Given the description of an element on the screen output the (x, y) to click on. 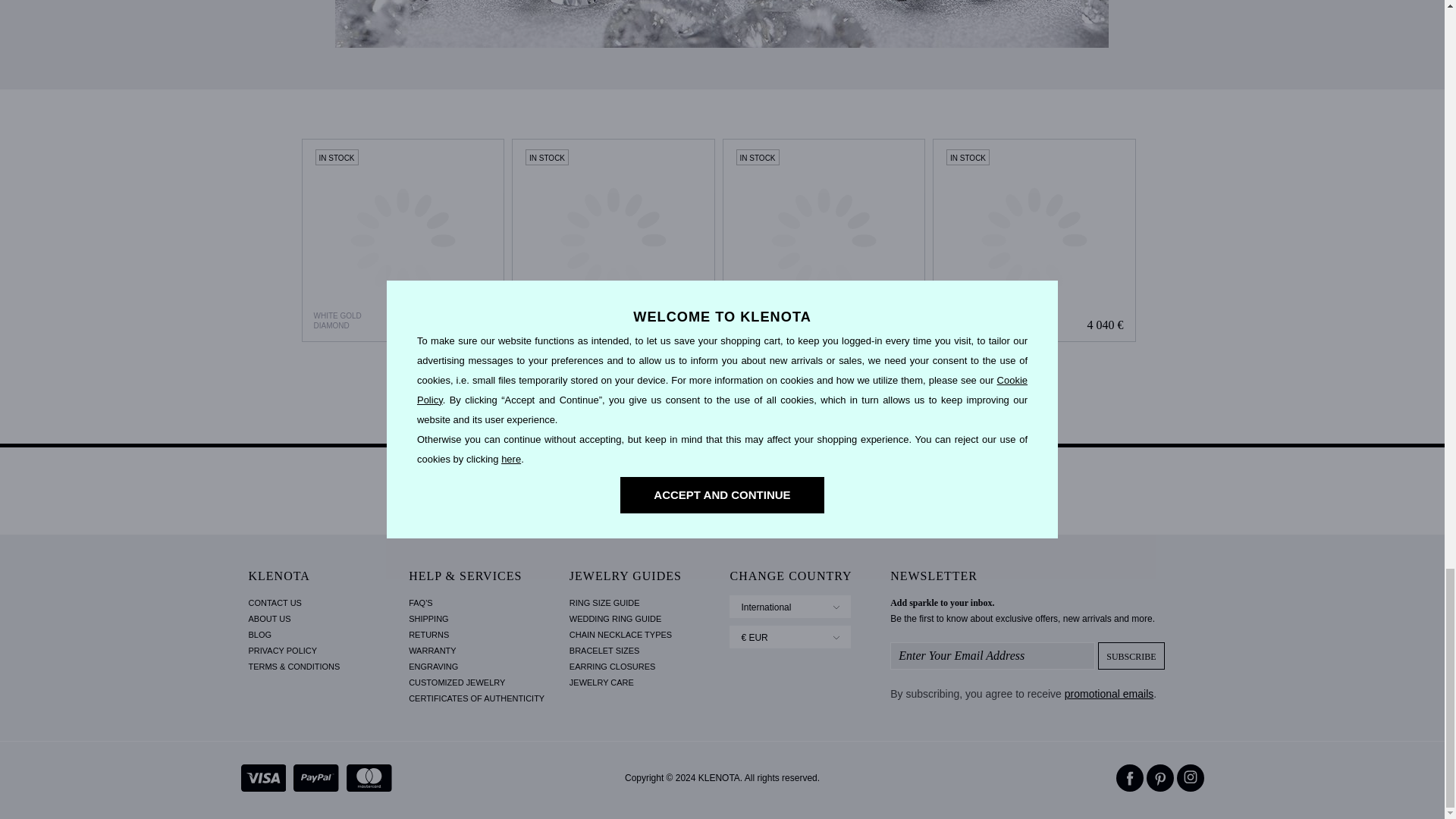
Diamond Circle Earrings (403, 240)
Pinterest (1160, 777)
Halo Diamond Necklace in White Gold (823, 240)
Halo Diamond Necklace in White Gold (823, 240)
Facebook (1129, 777)
Diamond Circle Earrings (402, 240)
Instagram (1190, 777)
Brilliant Earrings in White Gold (613, 240)
Diamond Leverback Earrings in White Gold (1034, 240)
Diamond Leverback Earrings in White Gold (1034, 240)
